Given the description of an element on the screen output the (x, y) to click on. 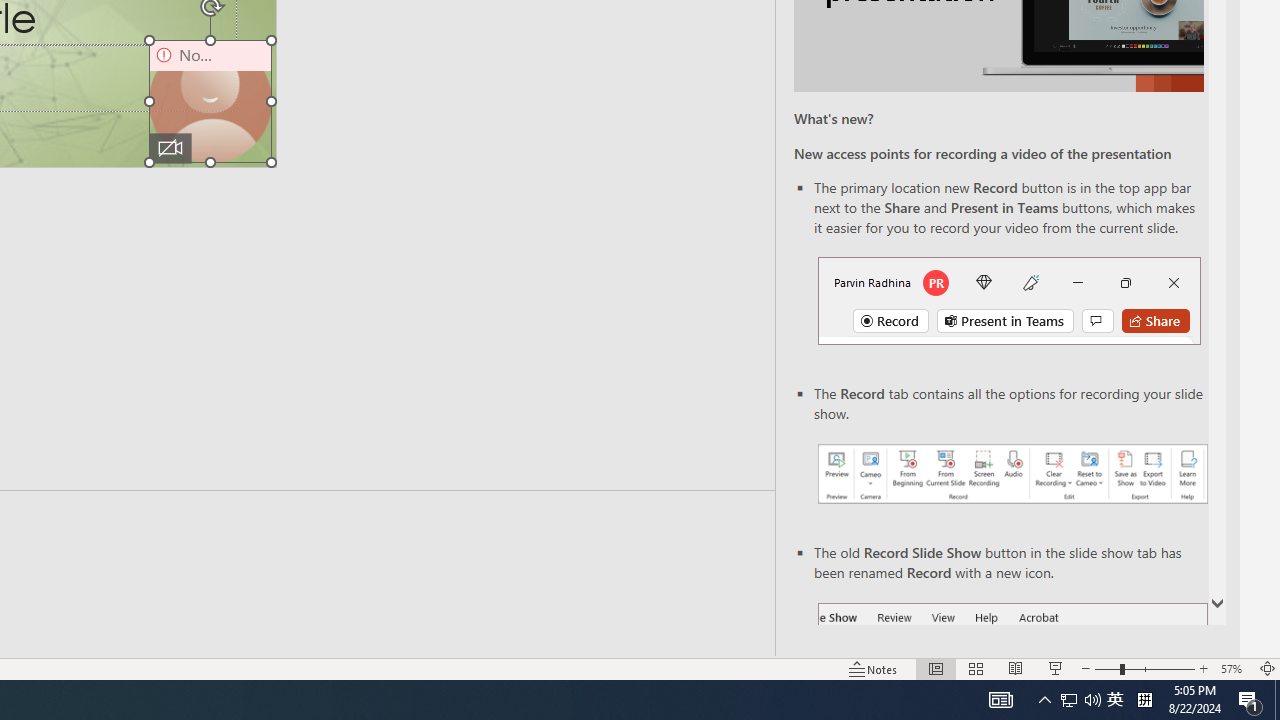
Record button in top bar (1008, 300)
Camera 9, No camera detected. (210, 101)
Zoom 57% (1234, 668)
Record your presentations screenshot one (1012, 473)
